Given the description of an element on the screen output the (x, y) to click on. 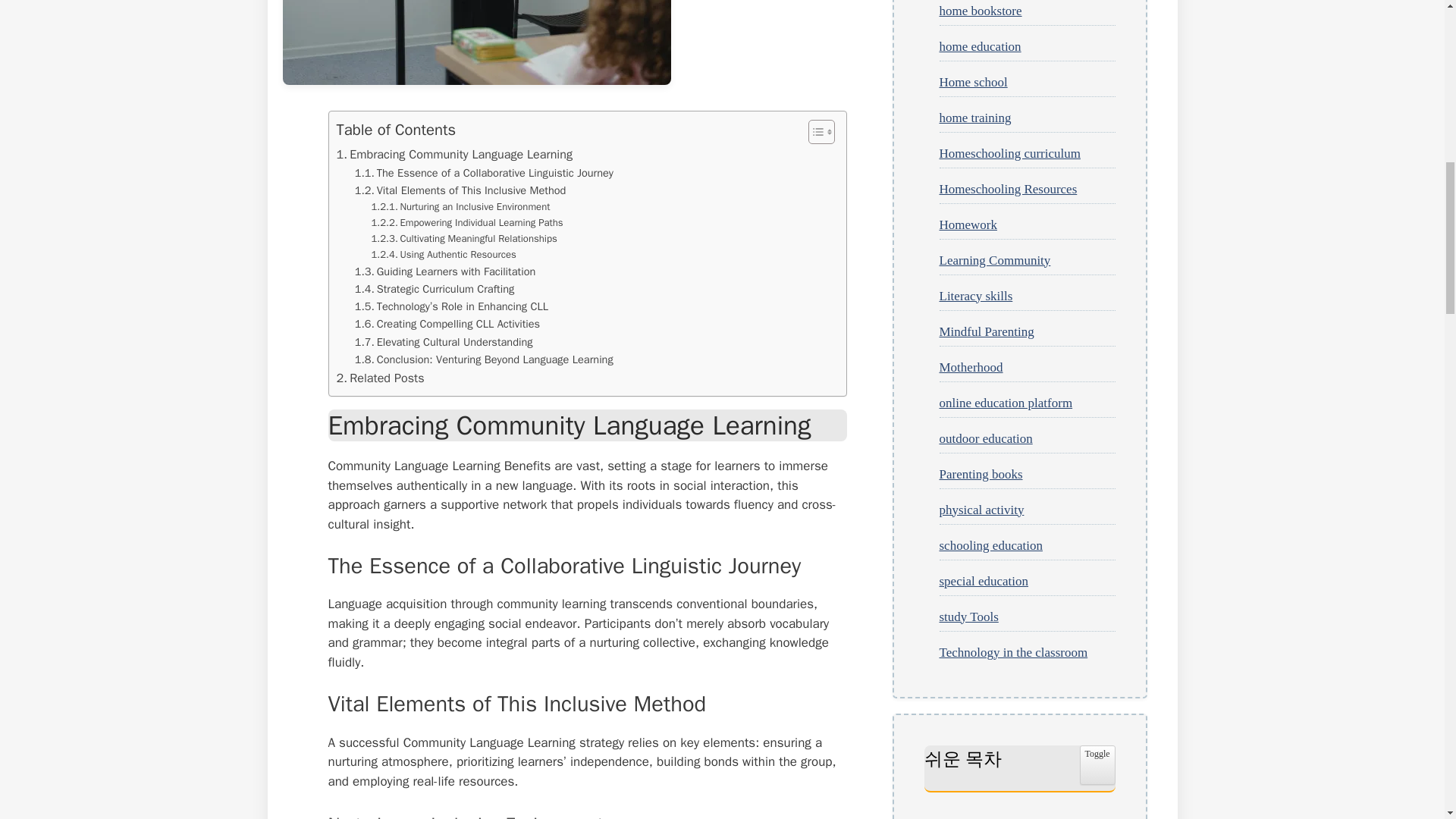
The Essence of a Collaborative Linguistic Journey (483, 172)
Nurturing an Inclusive Environment (460, 207)
Related Posts (380, 378)
Guiding Learners with Facilitation (445, 271)
Elevating Cultural Understanding (443, 342)
Nurturing an Inclusive Environment (460, 207)
The Essence of a Collaborative Linguistic Journey (483, 172)
Vital Elements of This Inclusive Method (460, 190)
Empowering Individual Learning Paths (467, 222)
Embracing Community Language Learning (454, 154)
